Given the description of an element on the screen output the (x, y) to click on. 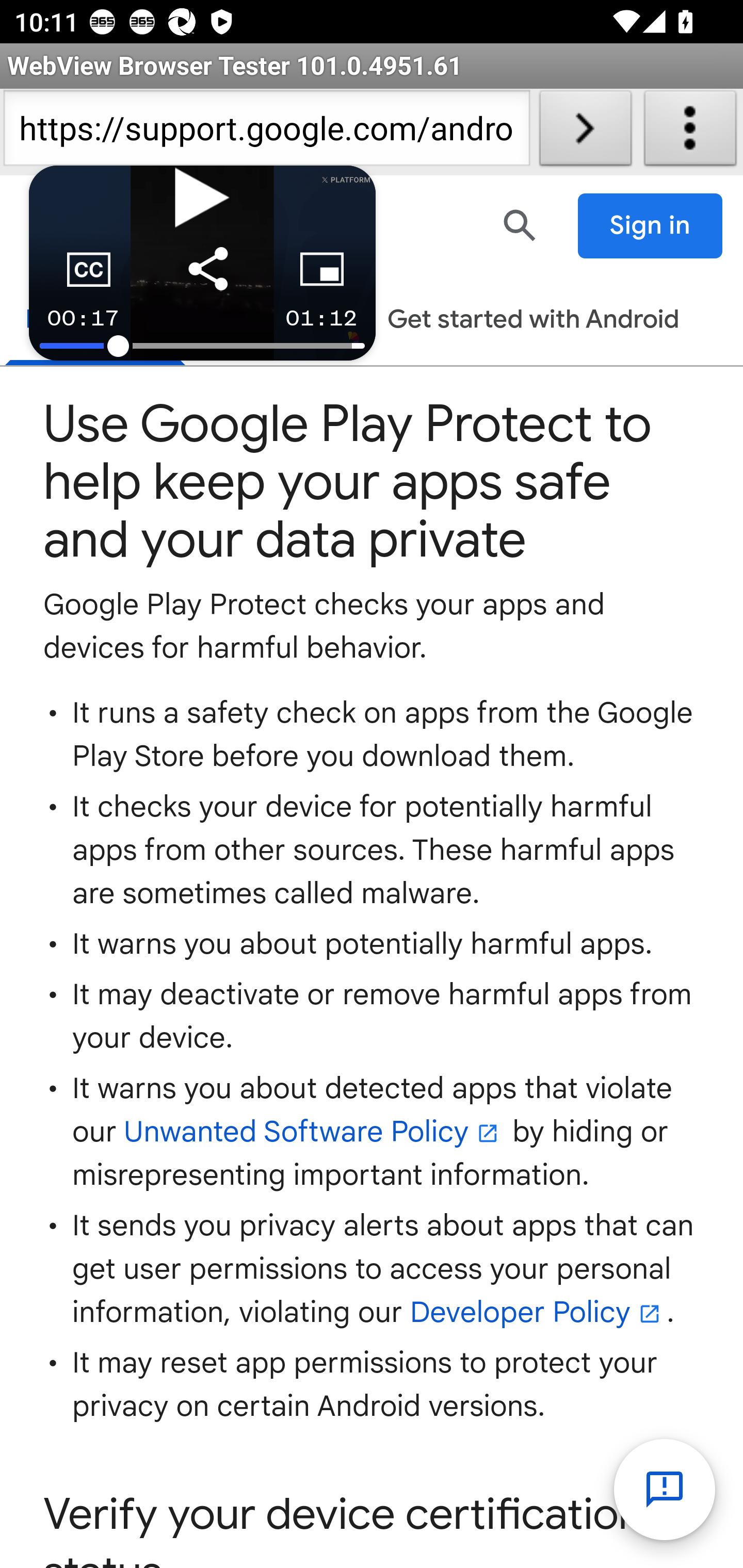
Load URL (585, 132)
About WebView (690, 132)
Search Help Center (519, 225)
Sign in (650, 226)
Get started with Android (533, 320)
Unwanted Software Policy (313, 1132)
Developer Policy (537, 1313)
